Given the description of an element on the screen output the (x, y) to click on. 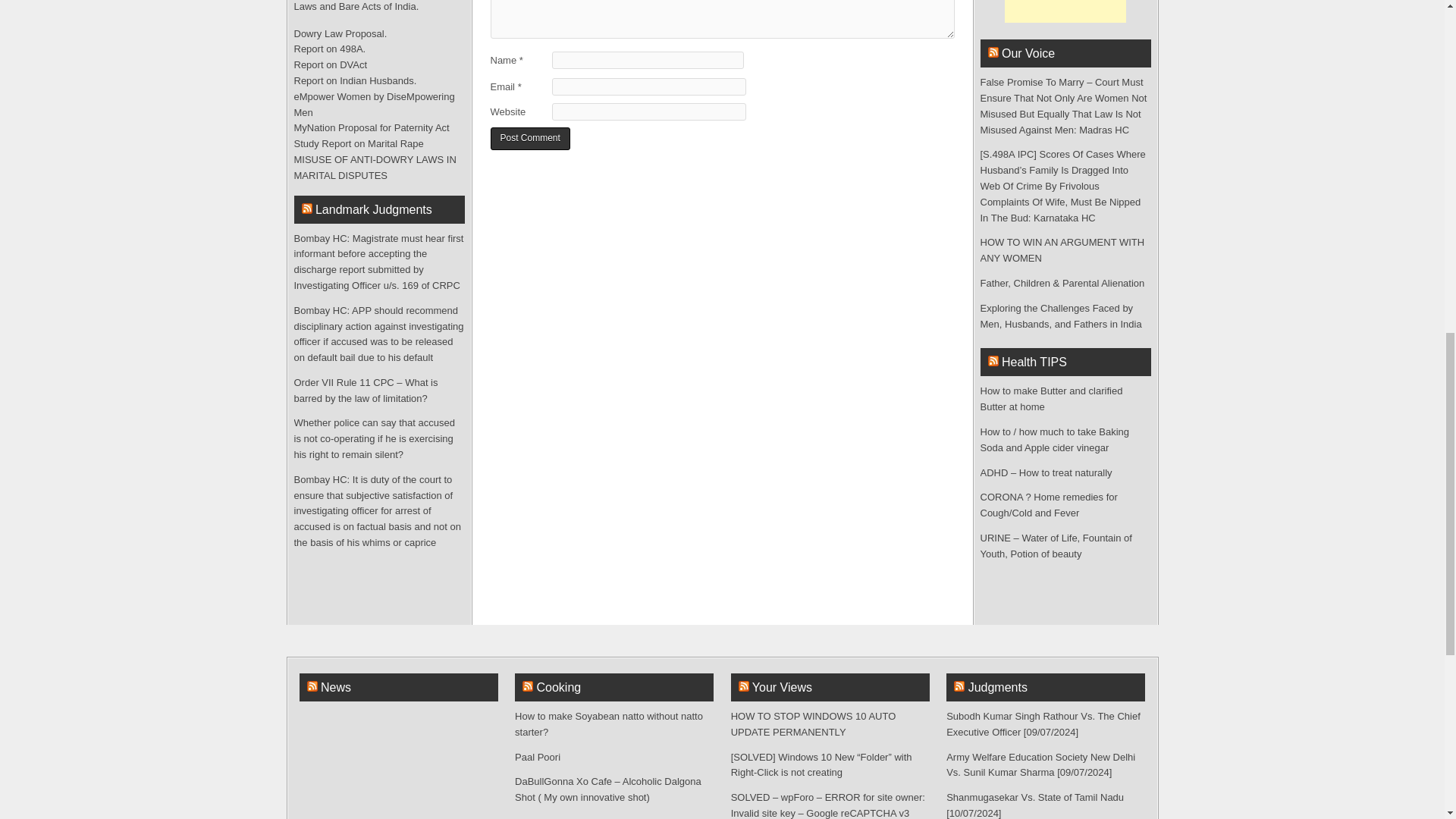
Post Comment (529, 138)
Dowry Law Proposal. (340, 33)
Report on 498A. (330, 48)
Laws and Bare Acts of India. (356, 6)
Post Comment (529, 138)
